Given the description of an element on the screen output the (x, y) to click on. 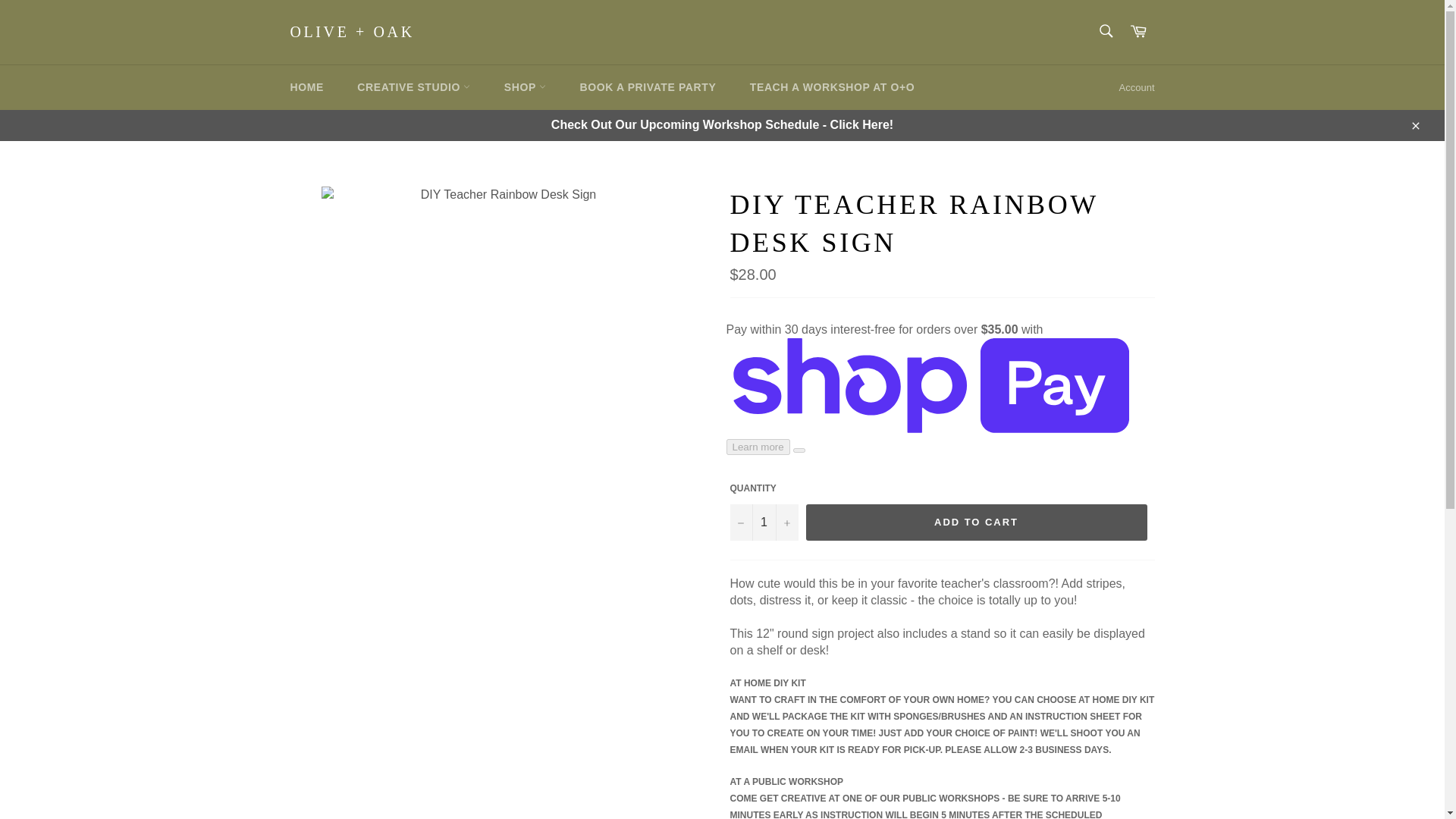
1 (763, 522)
